Given the description of an element on the screen output the (x, y) to click on. 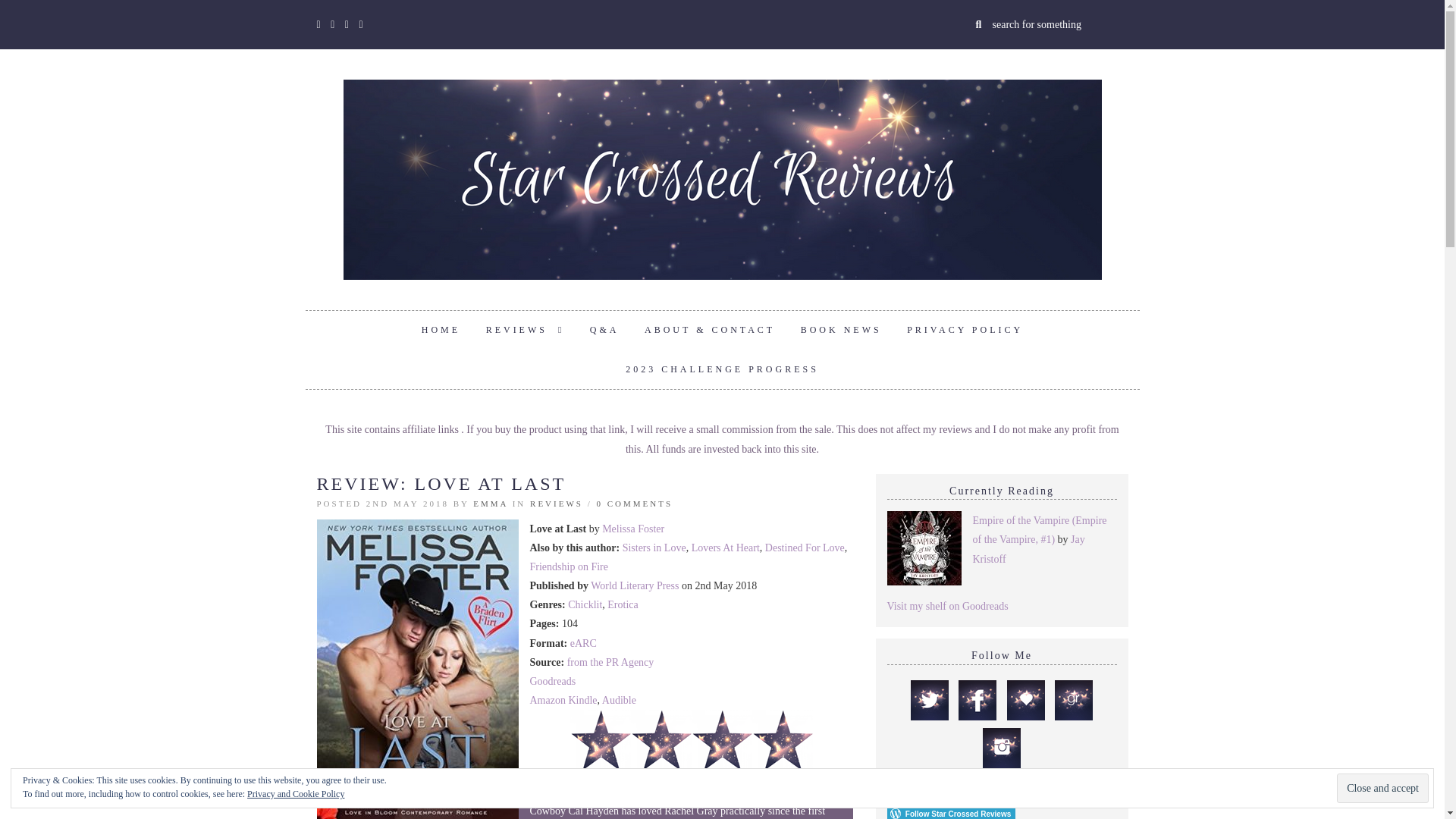
Lovers At Heart (725, 547)
REVIEWS   (525, 330)
0 COMMENTS (634, 502)
Sisters in Love (654, 547)
2023 CHALLENGE PROGRESS (721, 369)
BOOK NEWS (841, 330)
Close and accept (1382, 788)
HOME (440, 330)
REVIEWS (556, 502)
Erotica (622, 604)
Melissa Foster (632, 528)
Destined For Love (804, 547)
from the PR Agency (610, 662)
Amazon Kindle (562, 699)
Friendship on Fire (568, 566)
